Given the description of an element on the screen output the (x, y) to click on. 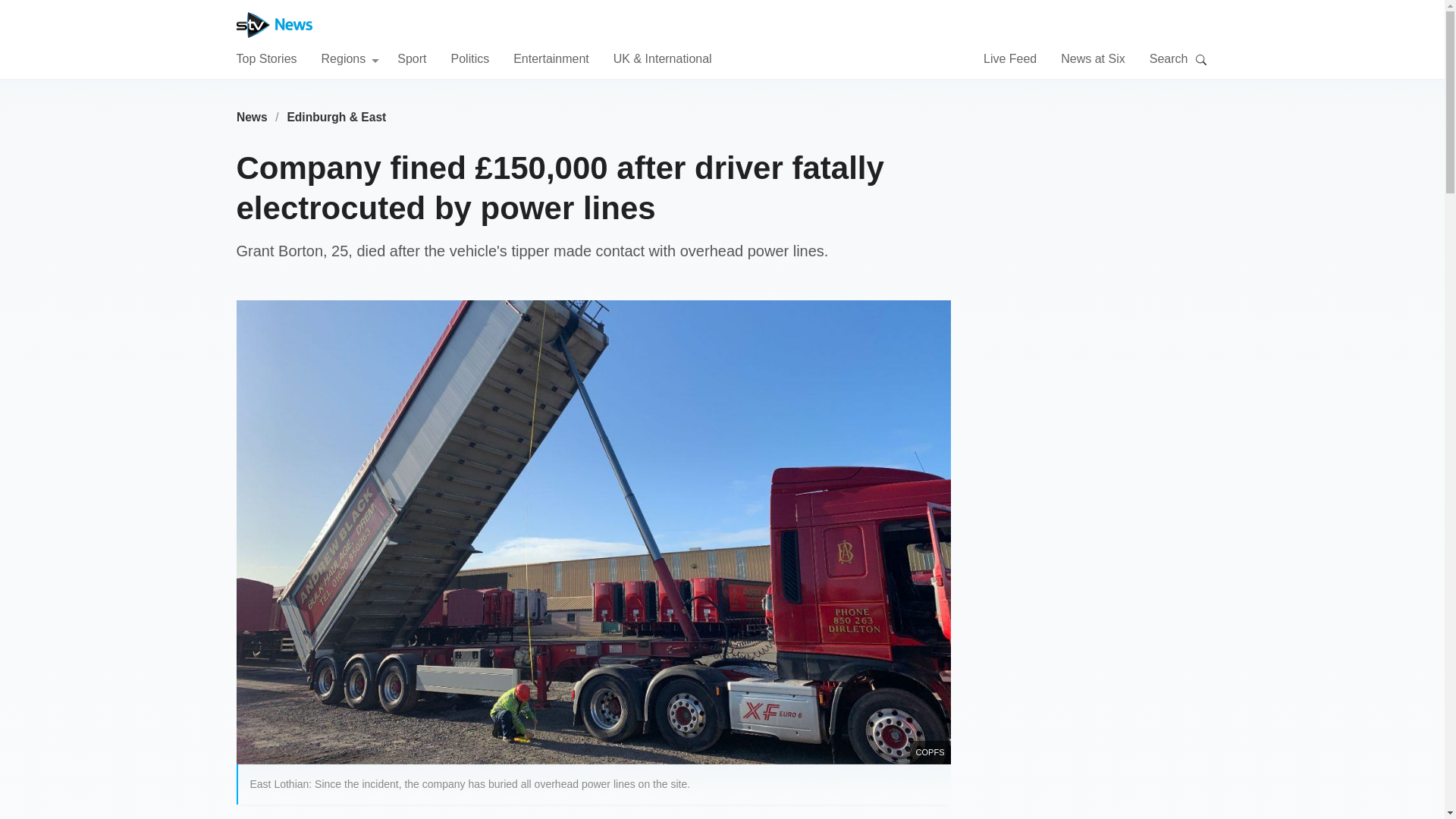
News at Six (1092, 57)
Regions (350, 57)
News (252, 116)
Politics (469, 57)
Search (1201, 59)
Entertainment (551, 57)
Top Stories (266, 57)
Sport (411, 57)
Live Feed (1010, 57)
